Given the description of an element on the screen output the (x, y) to click on. 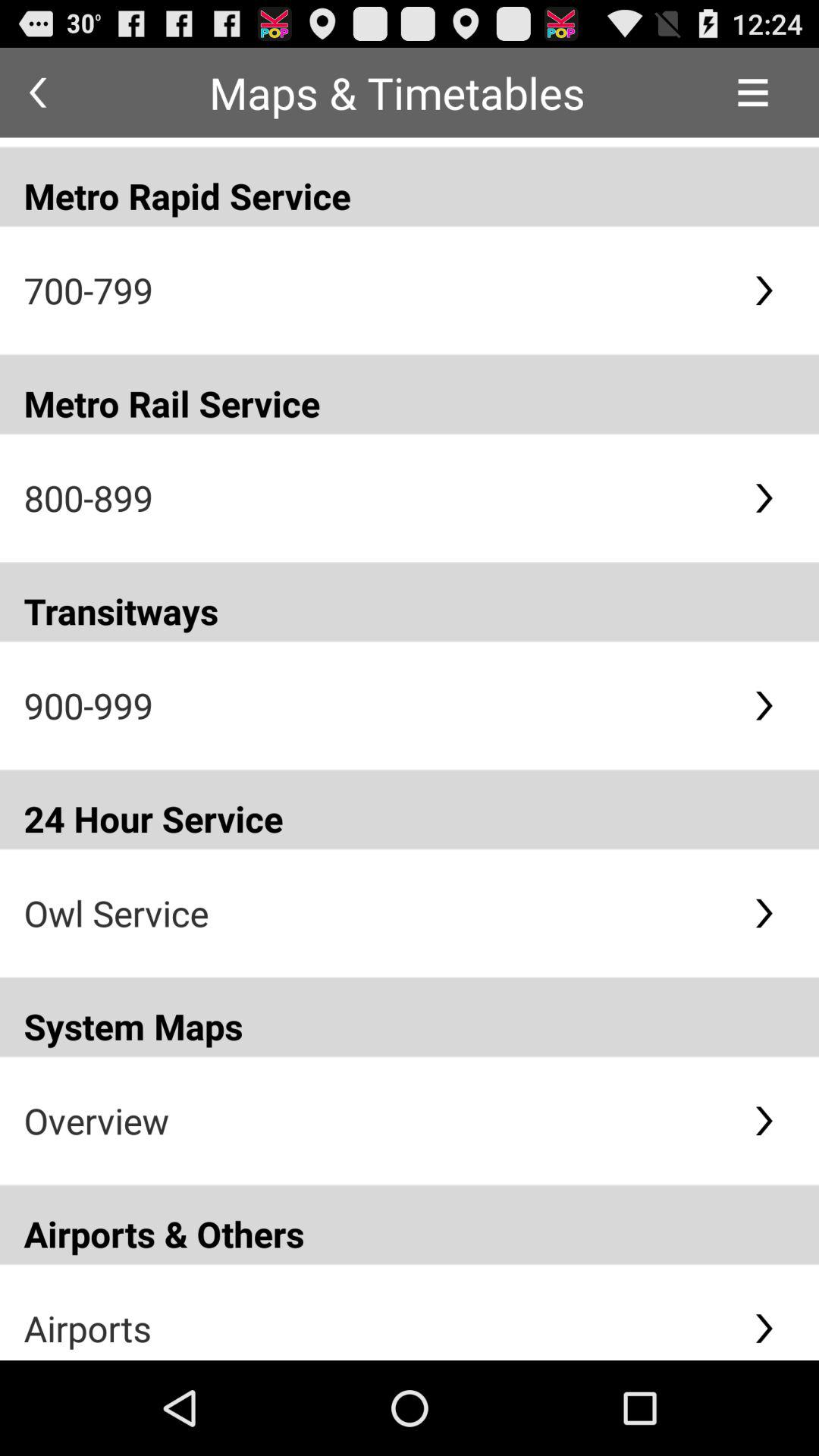
press the item next to maps & timetables icon (37, 92)
